Given the description of an element on the screen output the (x, y) to click on. 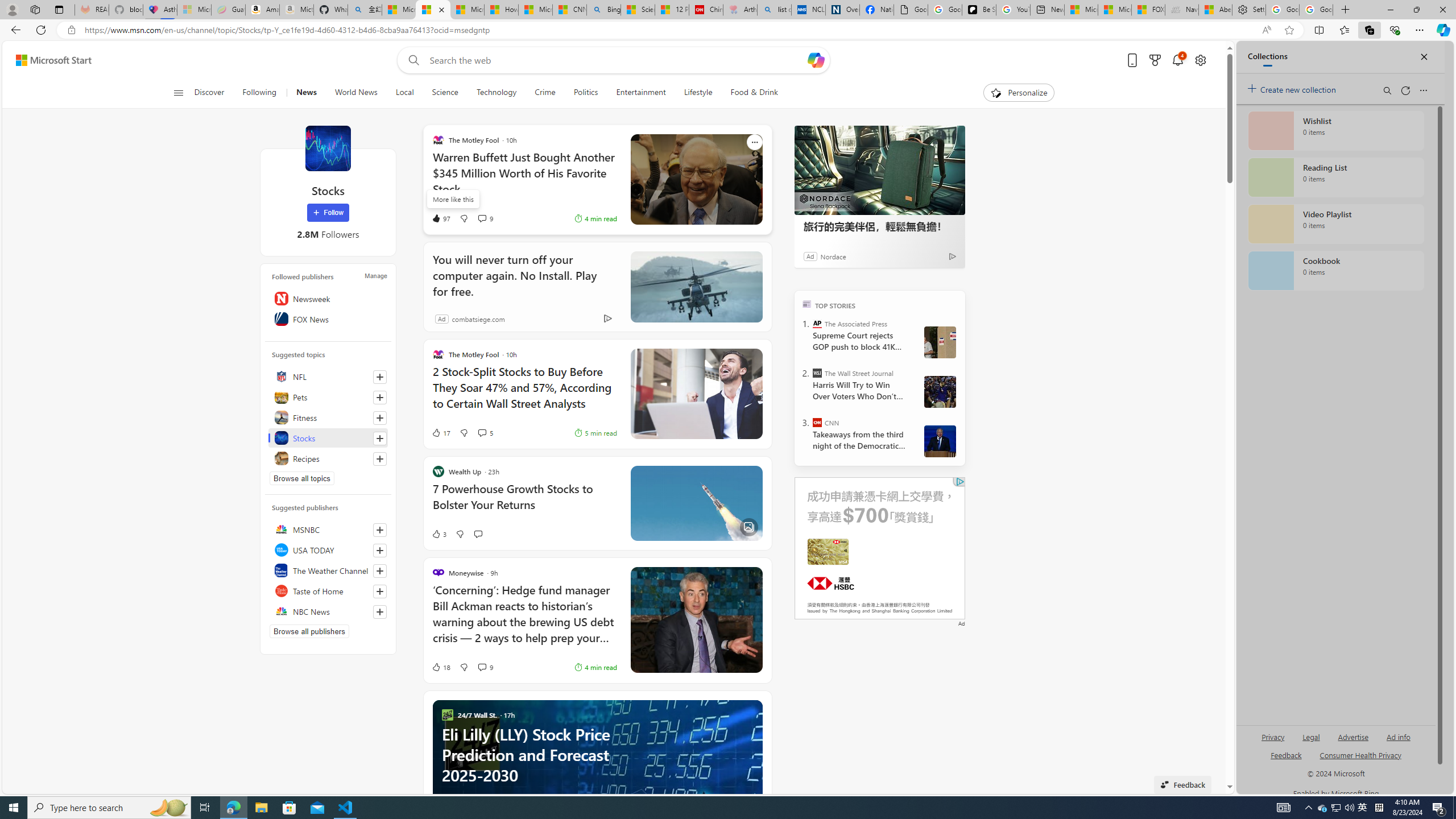
Stocks (327, 437)
3 Like (438, 533)
